Given the description of an element on the screen output the (x, y) to click on. 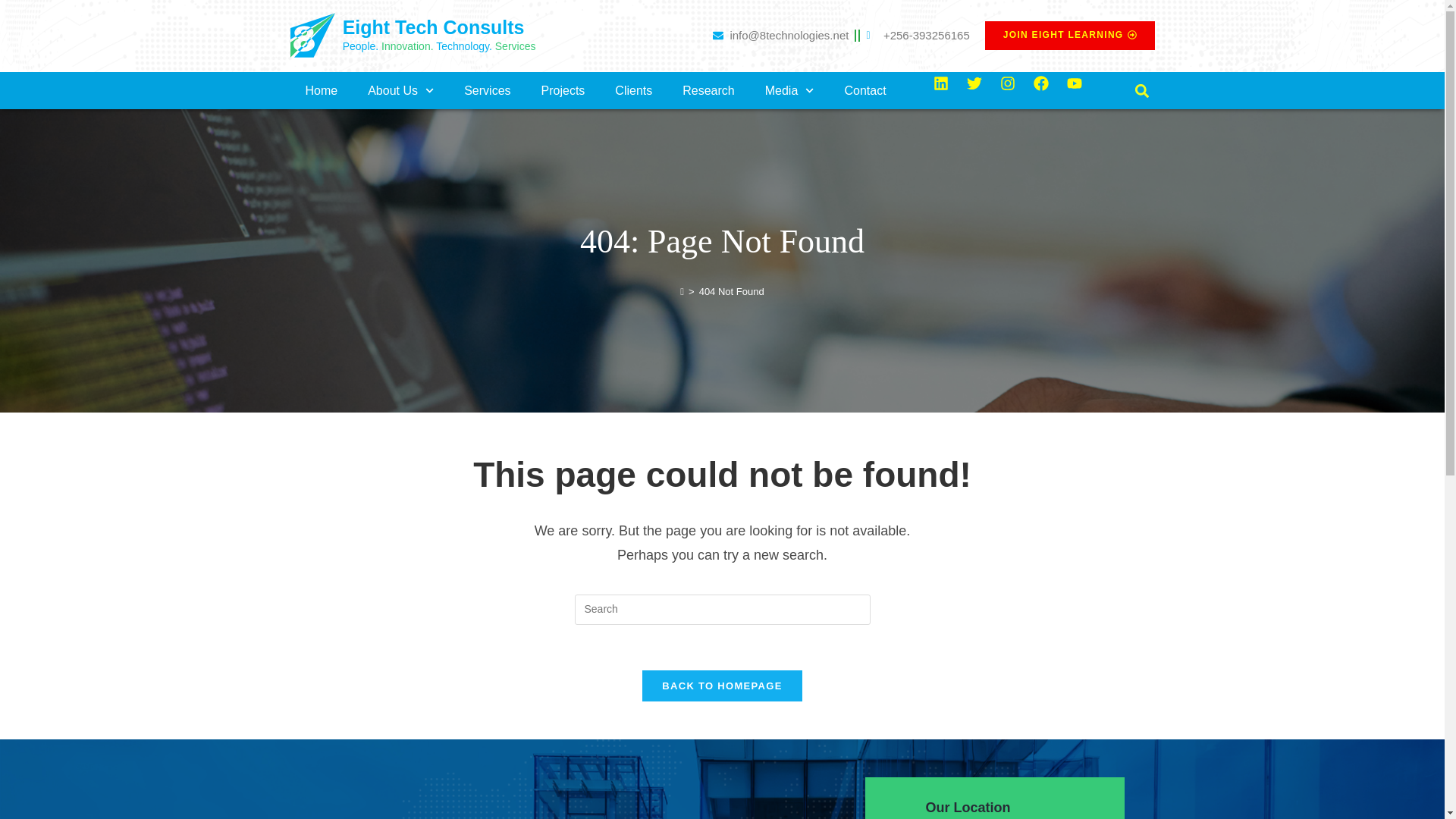
Media (789, 90)
Services (486, 90)
Projects (562, 90)
Eight Tech Consults (433, 26)
People. Innovation. Technology. Services (438, 46)
About Us (400, 90)
Clients (632, 90)
Research (707, 90)
Contact (865, 90)
Home (320, 90)
JOIN EIGHT LEARNING (1069, 35)
